Given the description of an element on the screen output the (x, y) to click on. 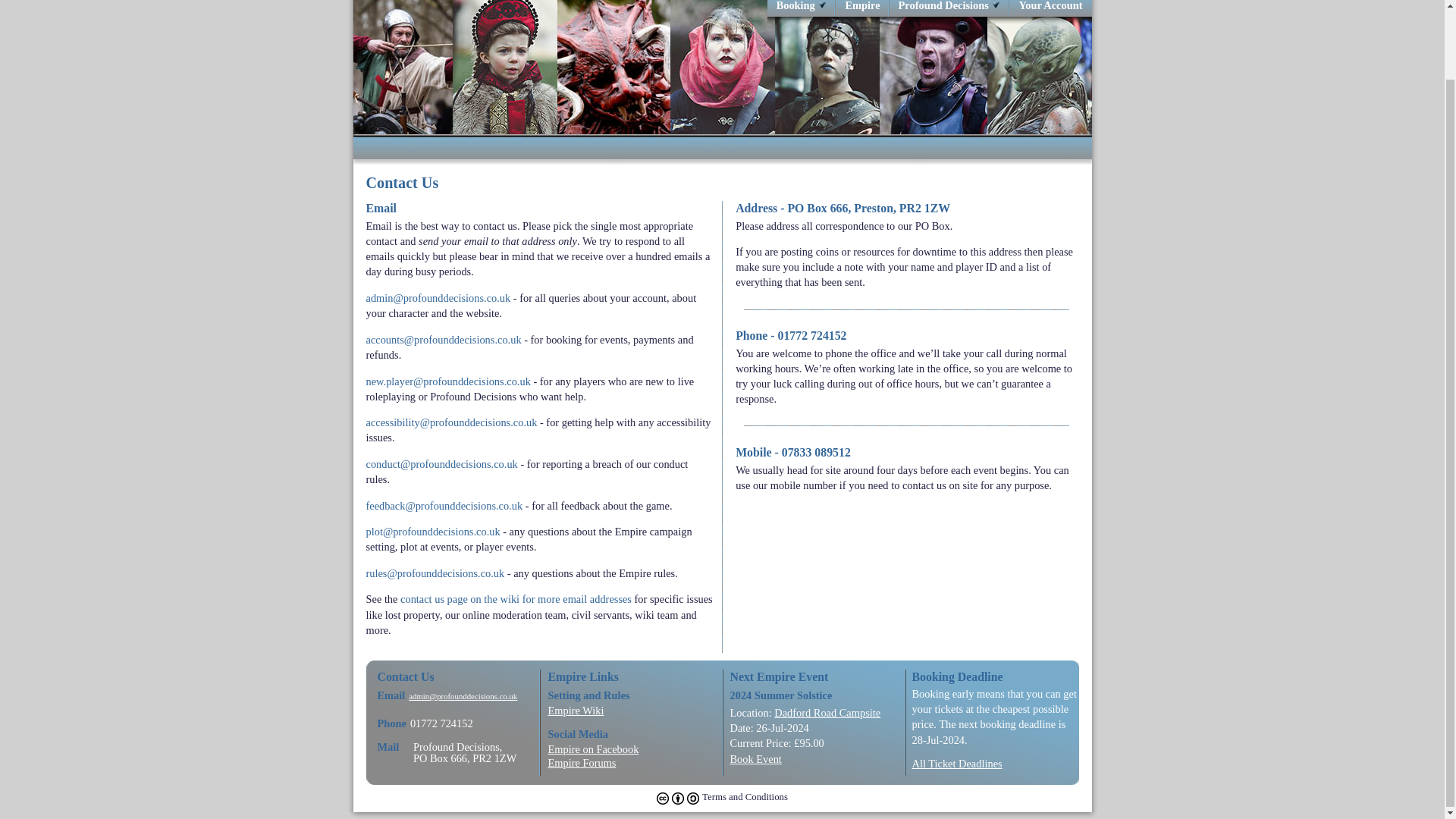
Empire Forums (630, 762)
Terms and Conditions (721, 798)
Dadford Road Campsite (827, 712)
Your Account (1049, 5)
Book Event (812, 758)
Empire (861, 5)
All Ticket Deadlines (956, 763)
Empire on Facebook (630, 748)
contact us page on the wiki for more email addresses (515, 598)
Empire Wiki (630, 710)
